Given the description of an element on the screen output the (x, y) to click on. 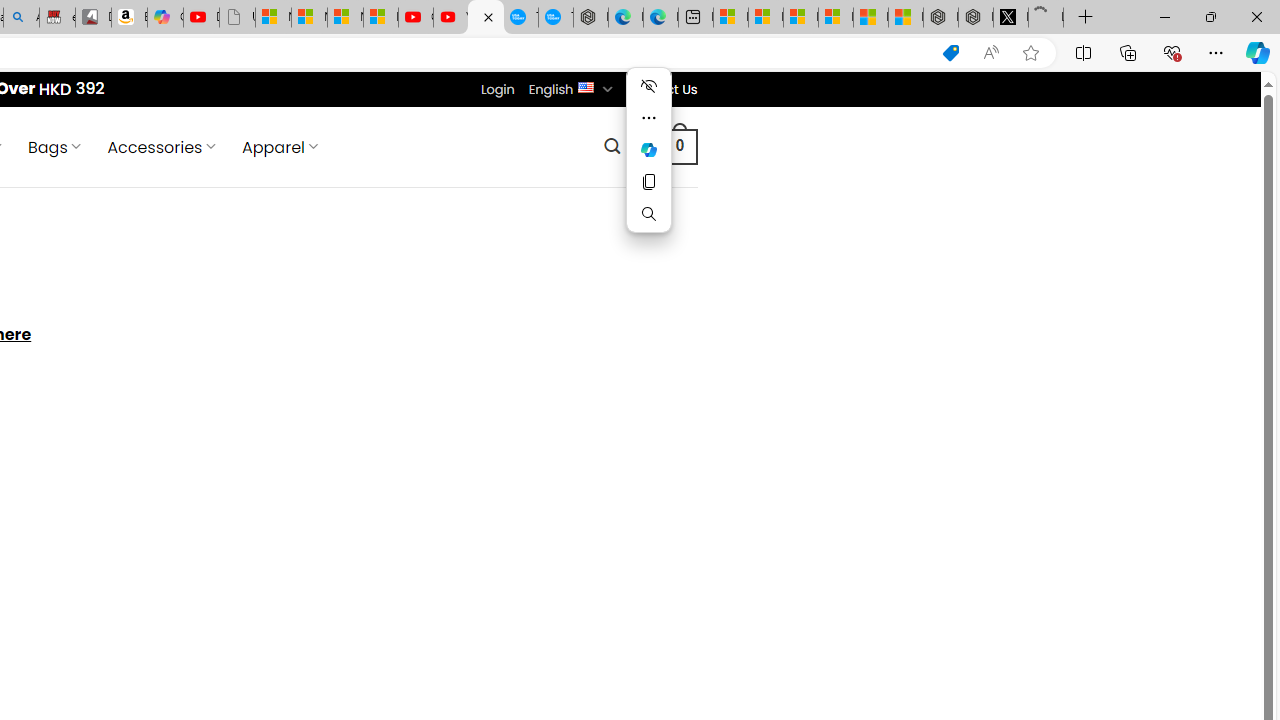
 0  (679, 146)
Nordace - Contact Us (485, 17)
Copilot (165, 17)
English (586, 86)
